Given the description of an element on the screen output the (x, y) to click on. 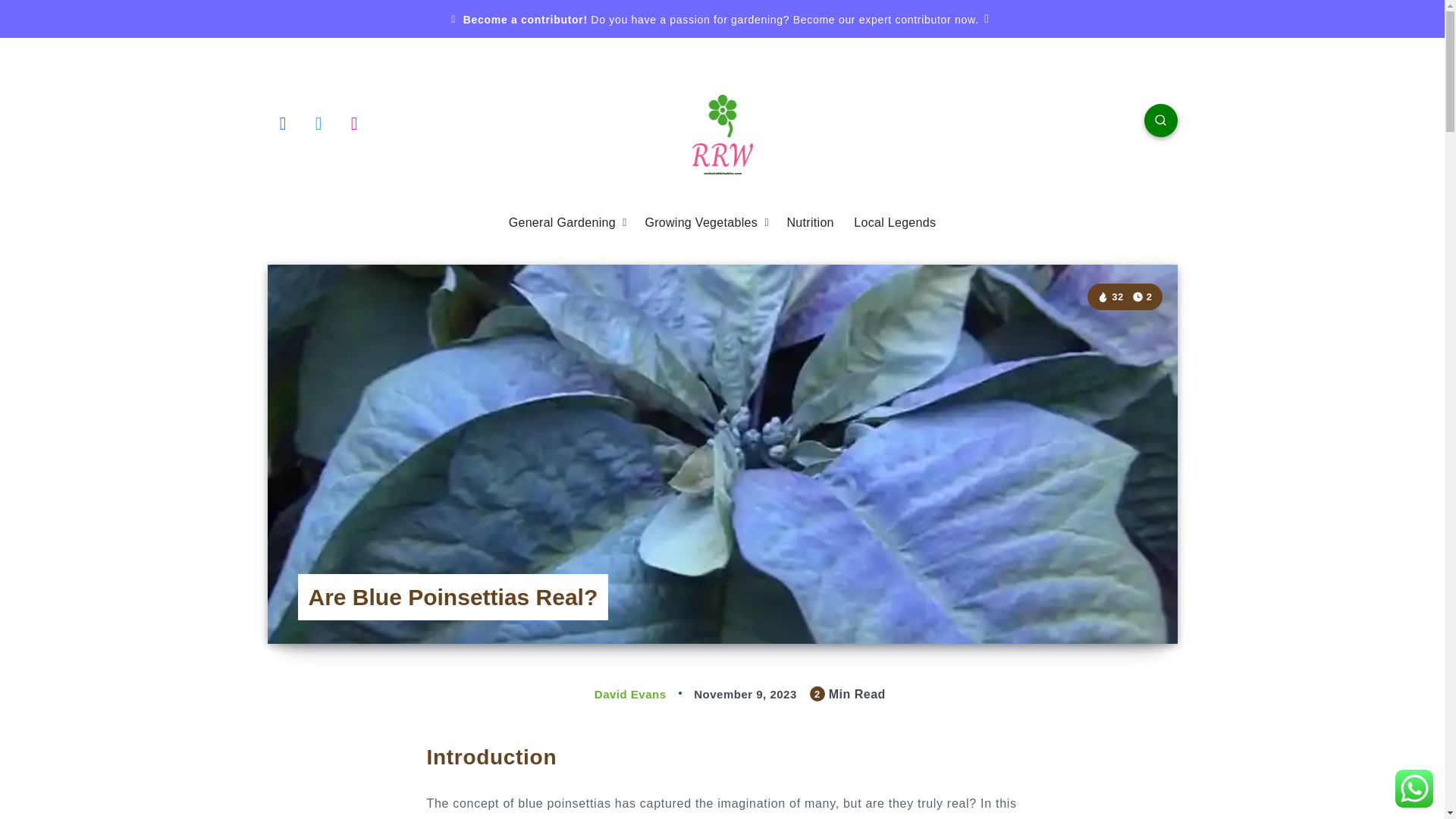
Growing Vegetables (701, 222)
General Gardening (561, 222)
Author: David Evans (614, 694)
32 Views (1110, 296)
2 Min Read (1142, 296)
